Given the description of an element on the screen output the (x, y) to click on. 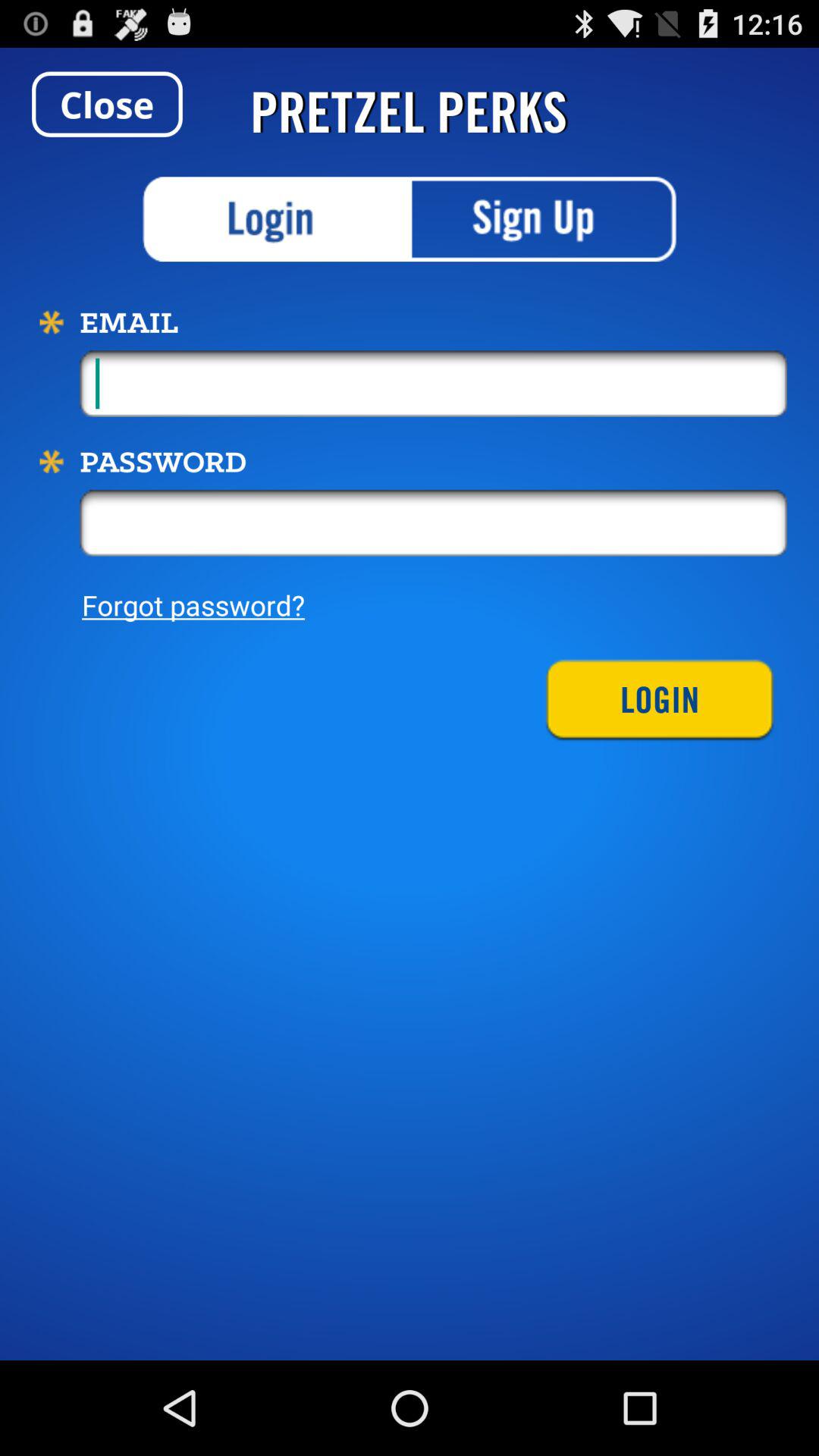
enter the password (433, 522)
